Given the description of an element on the screen output the (x, y) to click on. 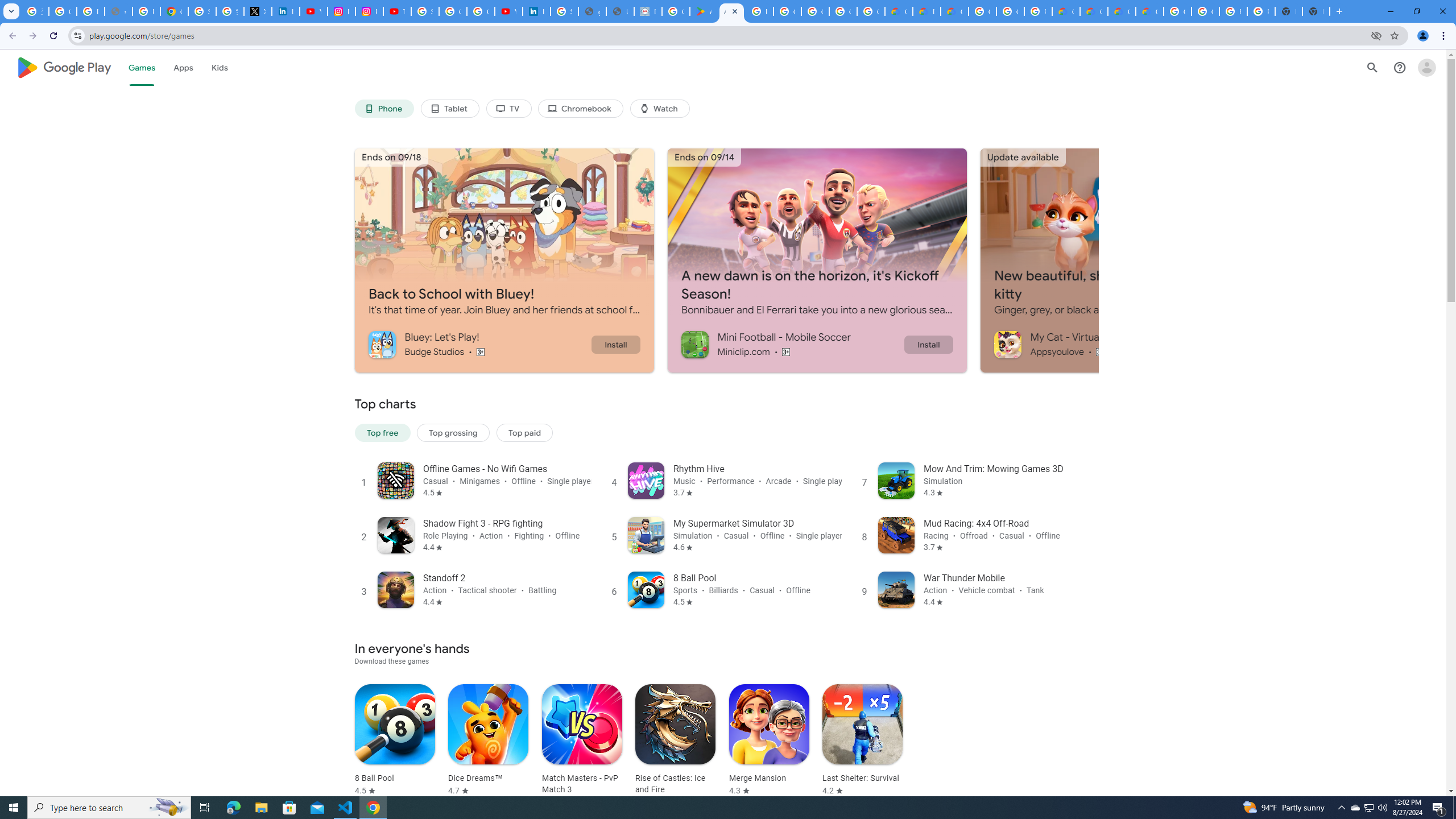
Top grossing (452, 432)
Chromebook (581, 108)
YouTube Content Monetization Policies - How YouTube Works (313, 11)
Customer Care | Google Cloud (1065, 11)
TV (508, 108)
Install (928, 343)
Top paid (524, 432)
Open account menu (1426, 67)
